Given the description of an element on the screen output the (x, y) to click on. 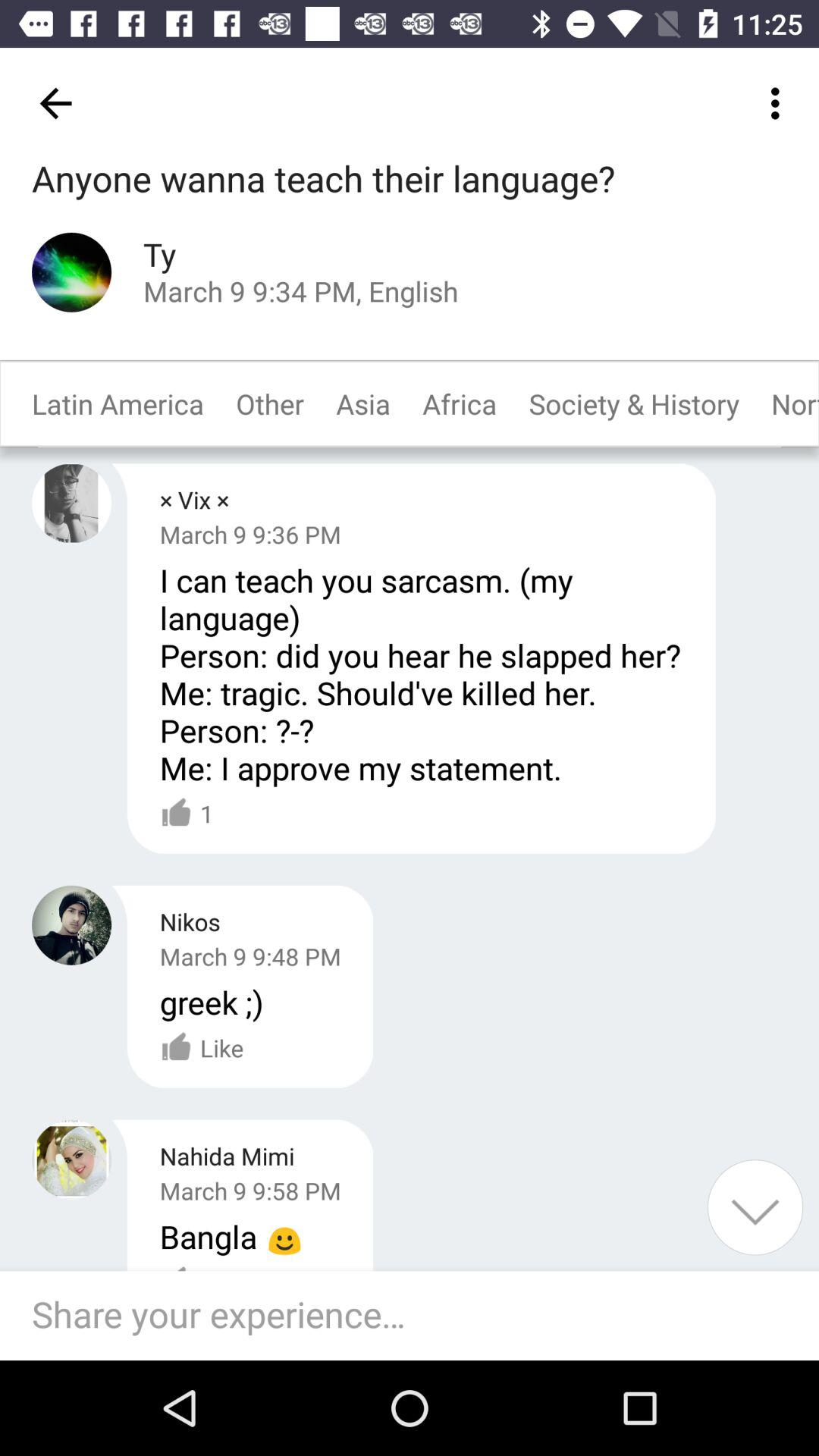
scroll down to the bottom (755, 1207)
